Given the description of an element on the screen output the (x, y) to click on. 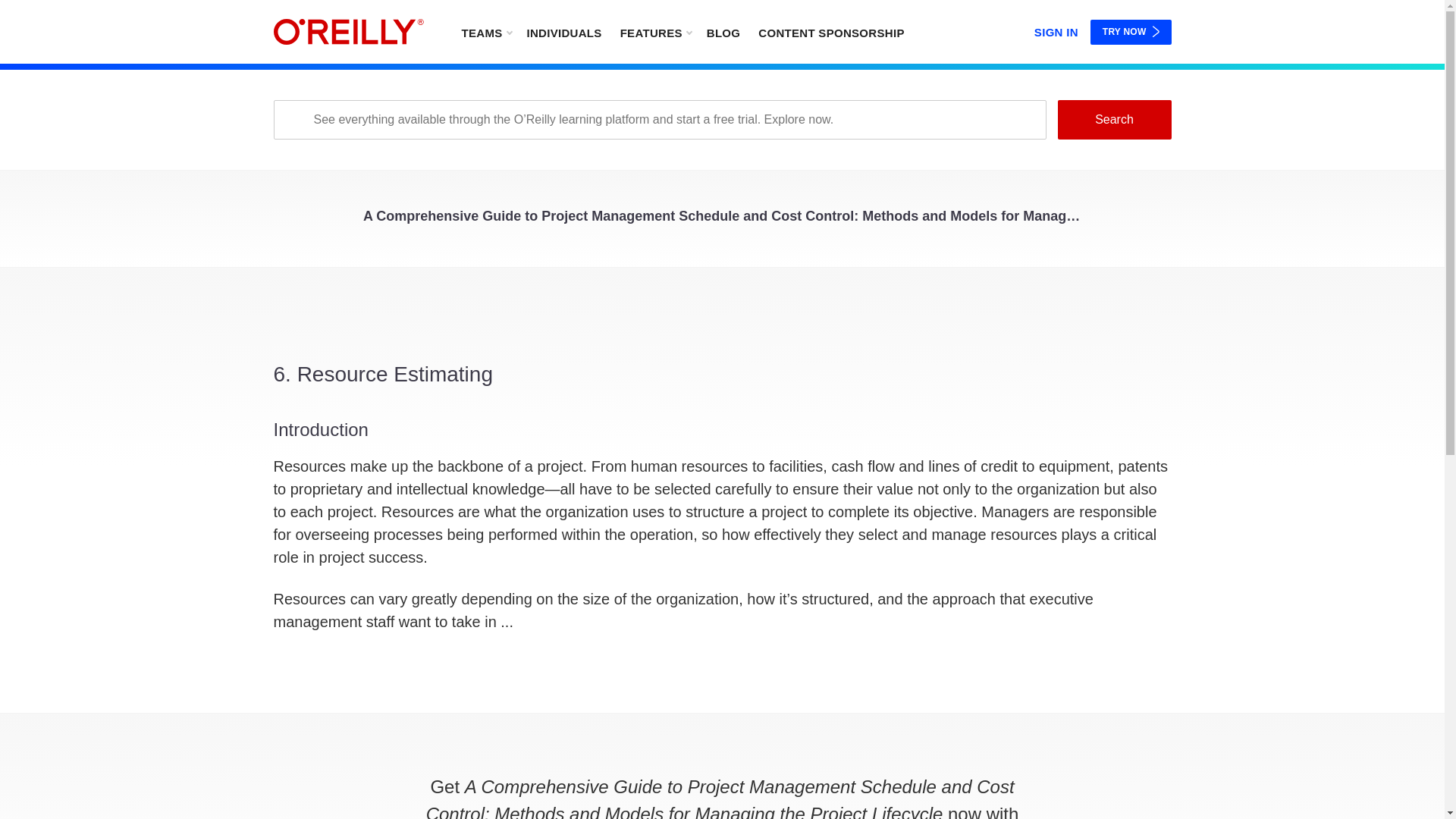
home page (348, 31)
SIGN IN (1055, 29)
INDIVIDUALS (563, 31)
TRY NOW (1131, 32)
Search (1113, 119)
Search (1113, 119)
CONTENT SPONSORSHIP (831, 31)
Search (1113, 119)
TEAMS (486, 31)
BLOG (723, 31)
FEATURES (655, 31)
